Given the description of an element on the screen output the (x, y) to click on. 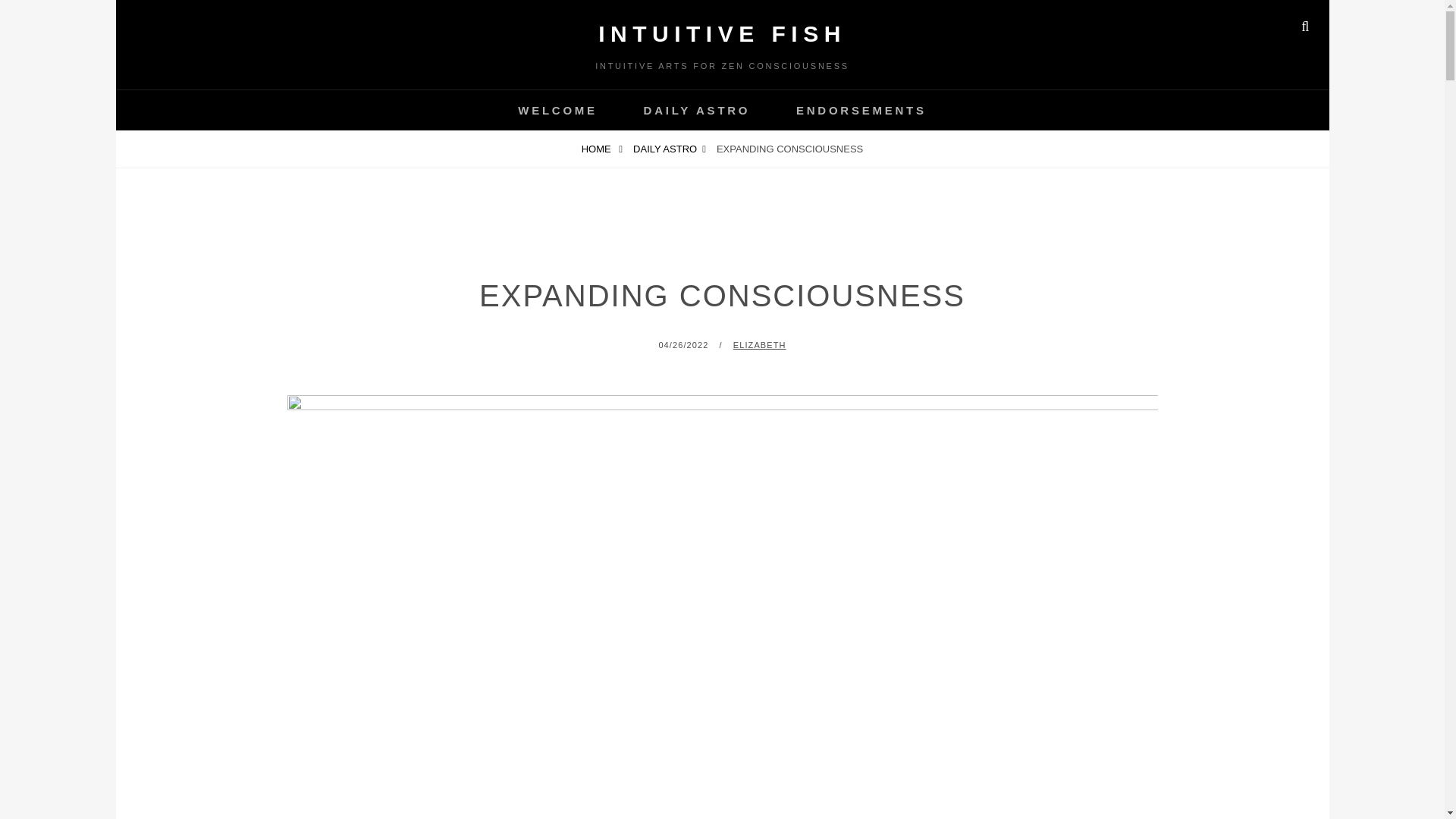
DAILY ASTRO (669, 148)
DAILY ASTRO (697, 110)
ELIZABETH (759, 344)
WELCOME (557, 110)
ENDORSEMENTS (860, 110)
INTUITIVE FISH (721, 33)
HOME (601, 148)
